Given the description of an element on the screen output the (x, y) to click on. 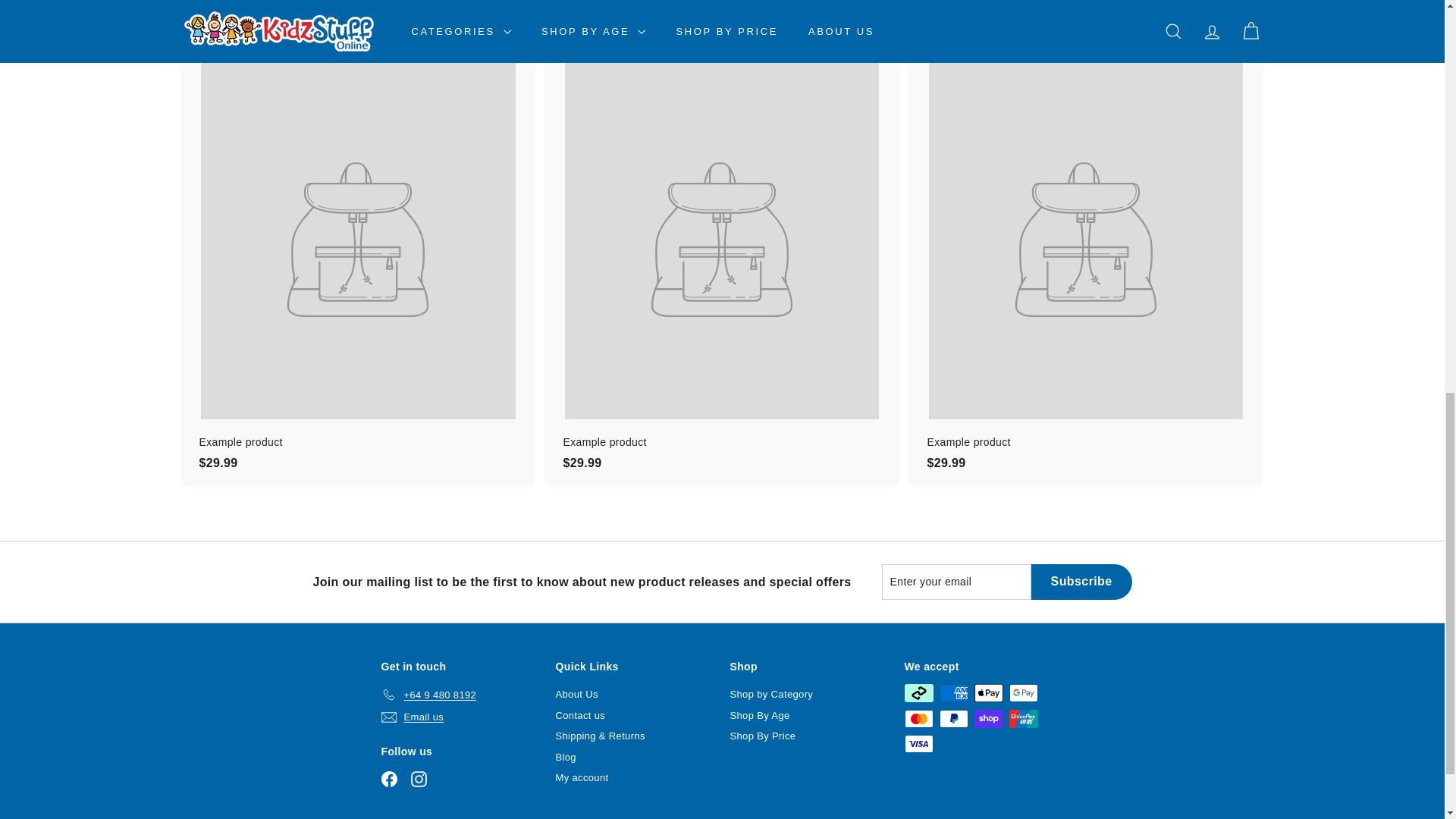
American Express (953, 692)
Kidzstuffonline on Instagram (418, 779)
Afterpay (918, 692)
Kidzstuffonline on Facebook (388, 779)
Apple Pay (988, 692)
